Given the description of an element on the screen output the (x, y) to click on. 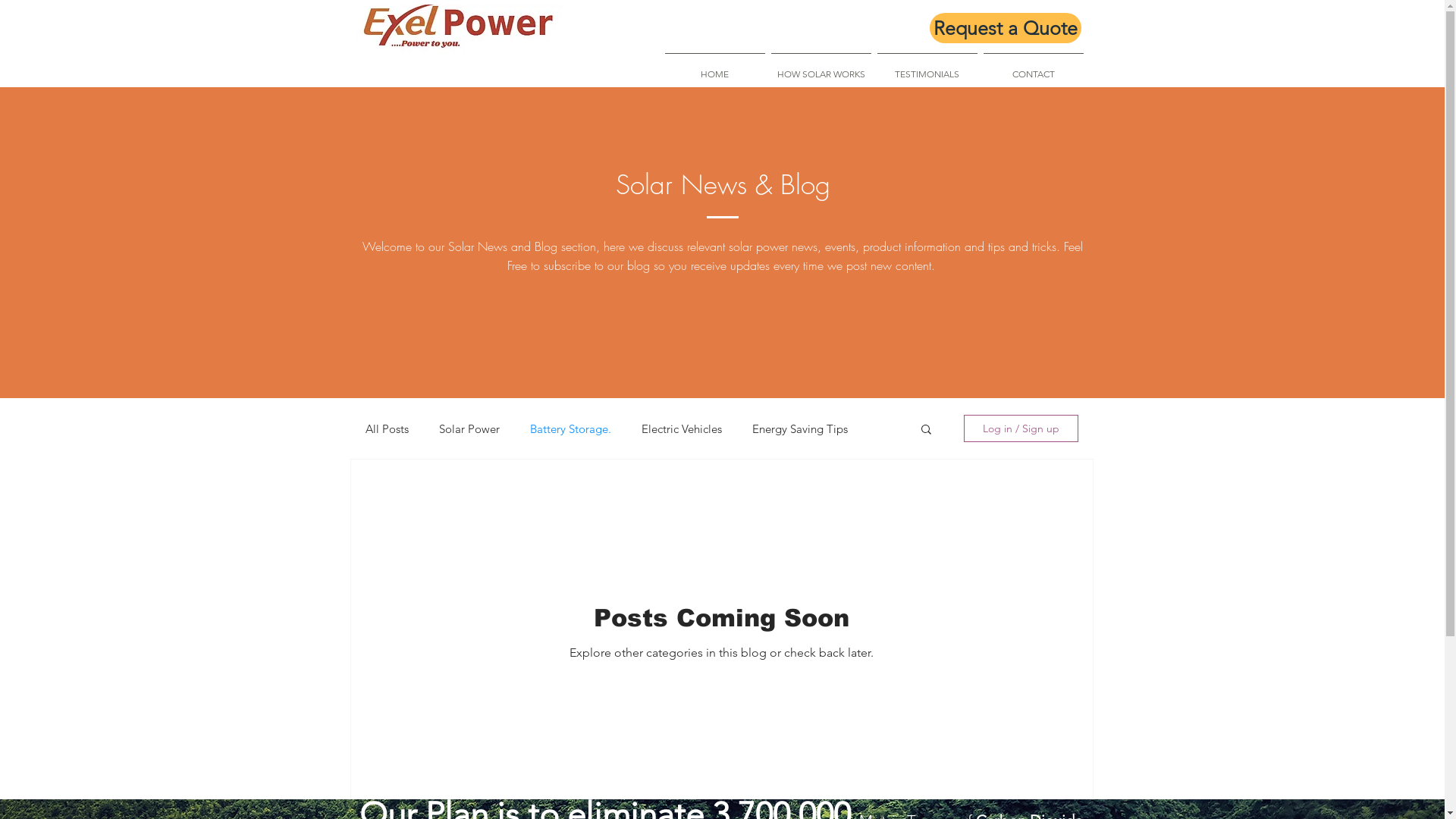
All Posts Element type: text (386, 428)
Request a Quote Element type: text (1005, 27)
Electric Vehicles Element type: text (681, 428)
TESTIMONIALS Element type: text (926, 67)
HOW SOLAR WORKS Element type: text (820, 67)
Energy Saving Tips Element type: text (799, 428)
Battery Storage. Element type: text (569, 428)
Log in / Sign up Element type: text (1020, 428)
HOME Element type: text (714, 67)
Solar Power Element type: text (468, 428)
CONTACT Element type: text (1032, 67)
